Given the description of an element on the screen output the (x, y) to click on. 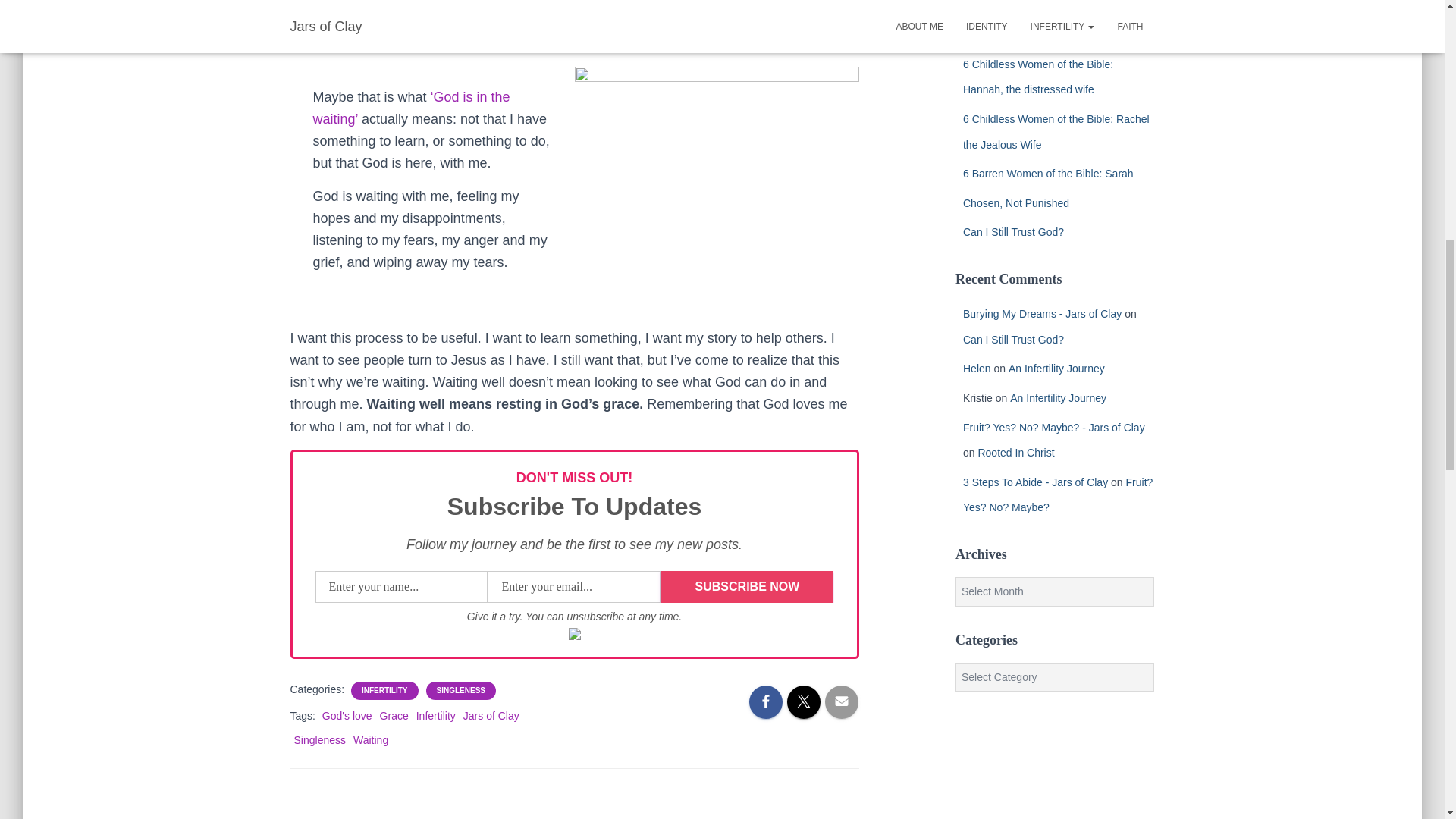
Subscribe Now (746, 586)
6 Childless Women of the Bible: Hannah, the distressed wife (1037, 77)
Burying My Dreams - Jars of Clay (1041, 313)
INFERTILITY (384, 690)
Chosen, Not Punished (1015, 203)
6 Childless Women of the Bible: Rachel the Jealous Wife (1056, 131)
Waiting (370, 739)
Infertility (435, 715)
Singleness (320, 739)
Can I Still Trust God? (1013, 232)
